Given the description of an element on the screen output the (x, y) to click on. 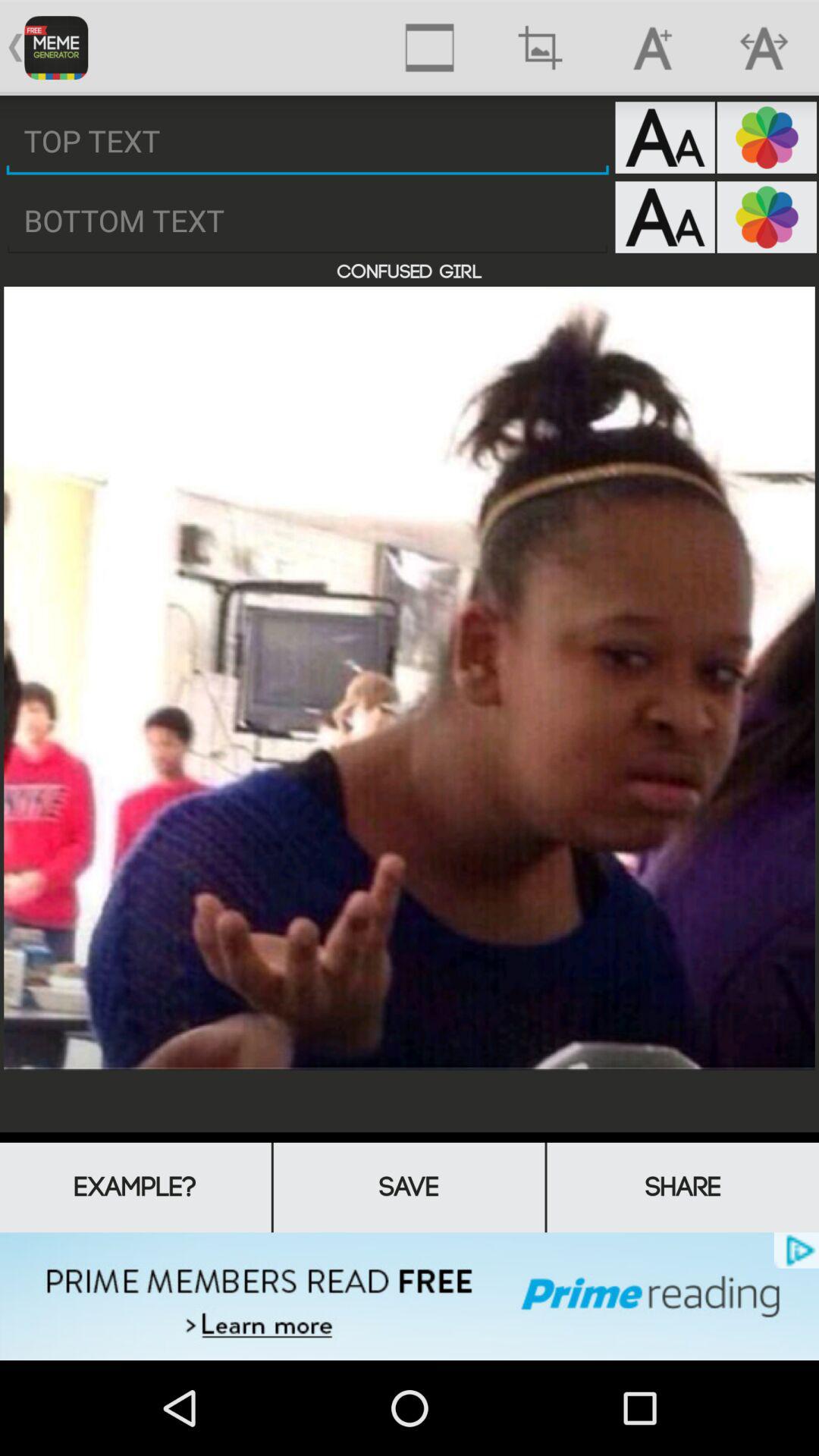
select font size (664, 217)
